Given the description of an element on the screen output the (x, y) to click on. 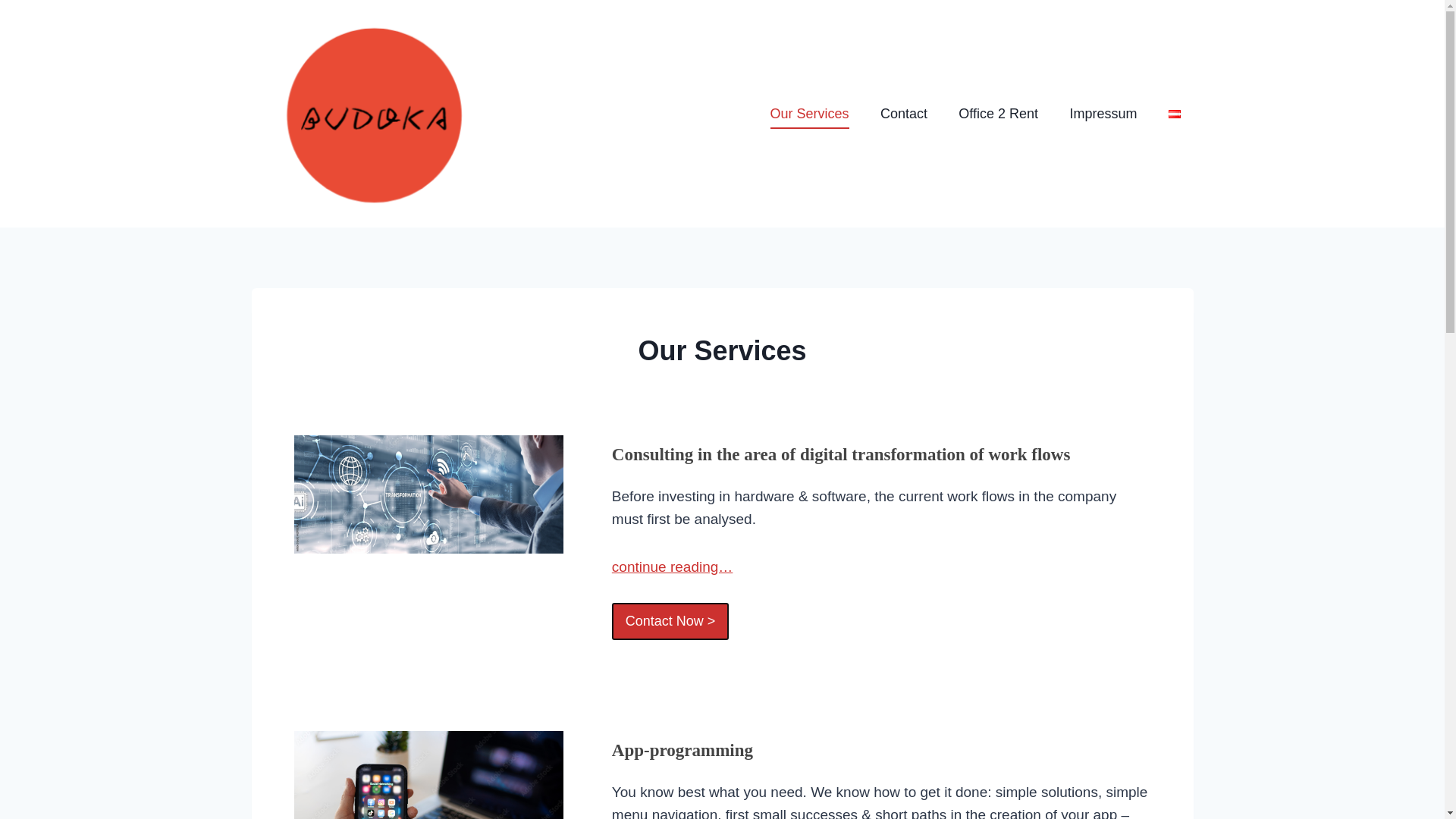
Contact (903, 113)
Office 2 Rent (998, 113)
Our Services (809, 113)
Impressum (1103, 113)
